Given the description of an element on the screen output the (x, y) to click on. 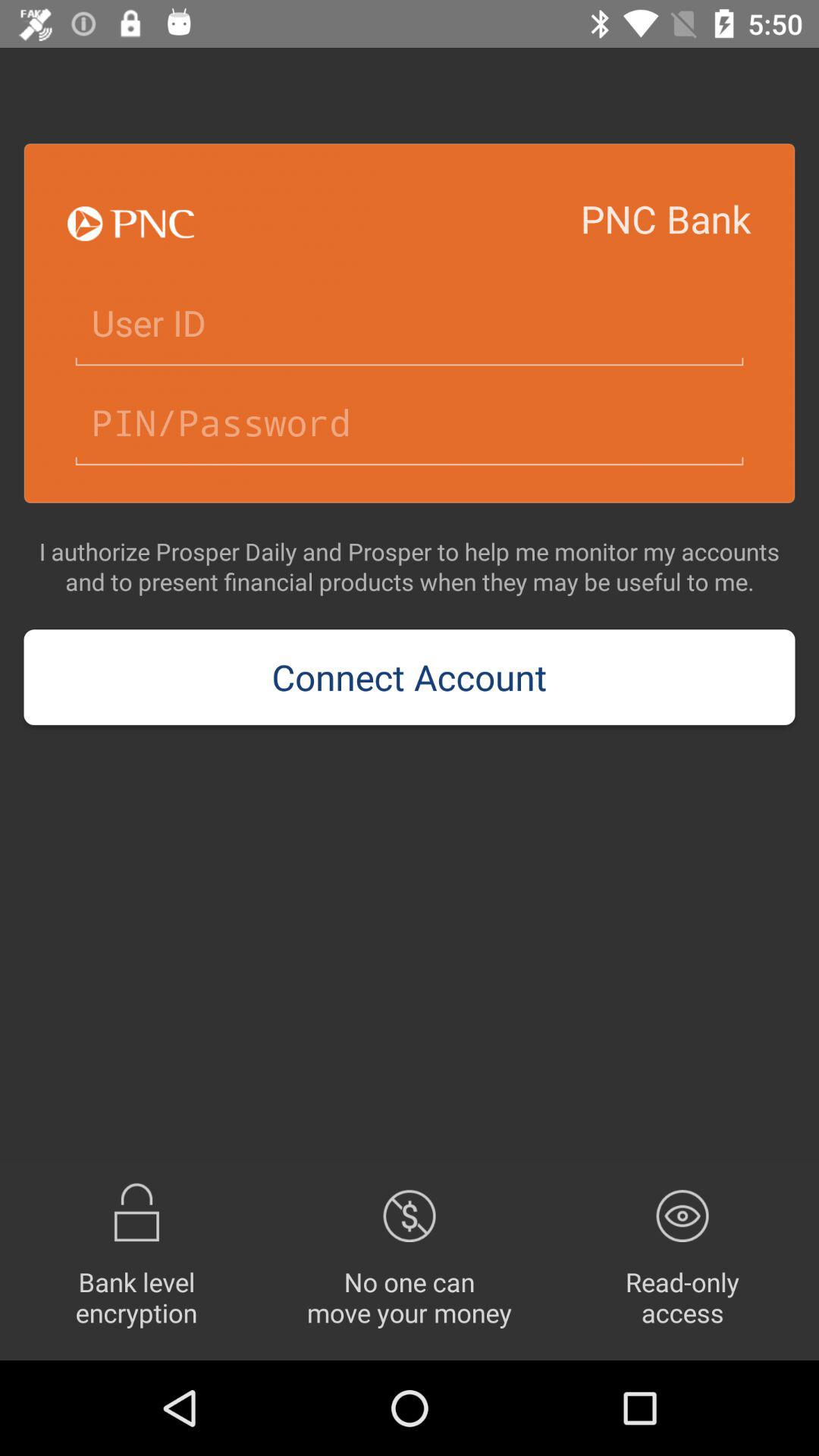
id text input (409, 323)
